Given the description of an element on the screen output the (x, y) to click on. 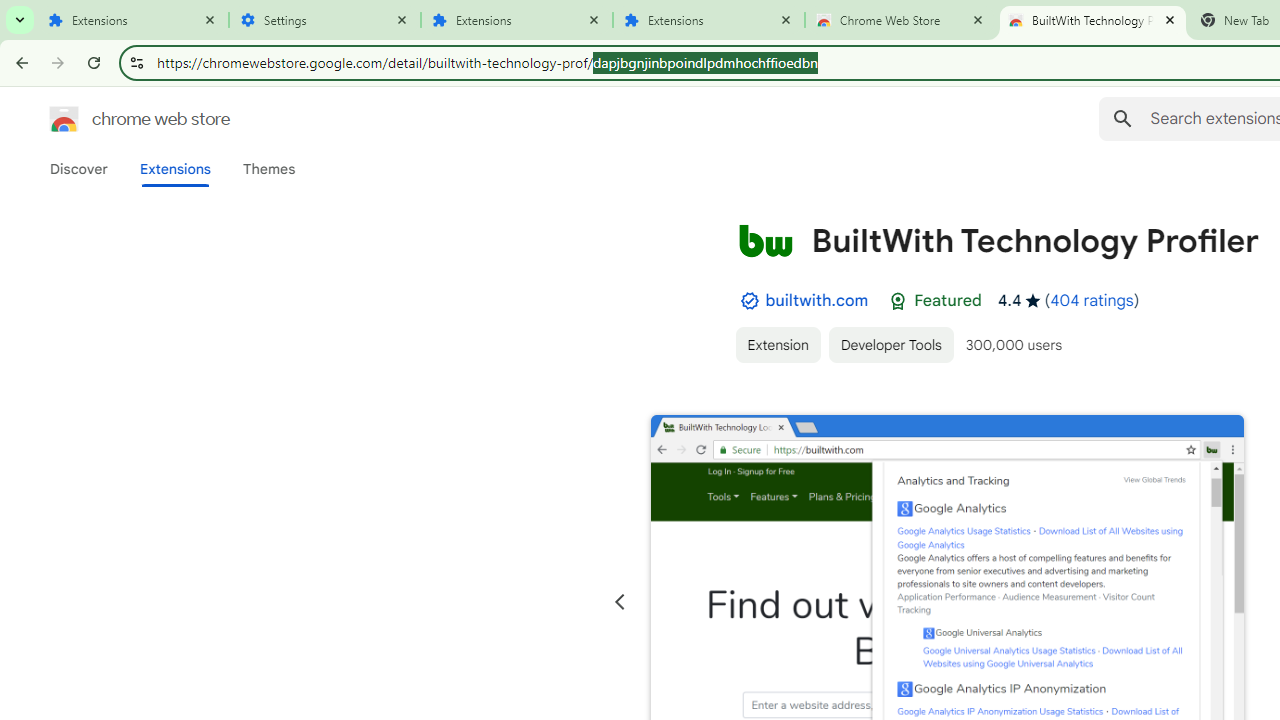
Extensions (517, 20)
Extensions (133, 20)
Extensions (174, 169)
Extension (777, 344)
Chrome Web Store logo (63, 118)
Item logo image for BuiltWith Technology Profiler (765, 240)
Chrome Web Store (901, 20)
BuiltWith Technology Profiler - Chrome Web Store (1093, 20)
Extensions (709, 20)
